Given the description of an element on the screen output the (x, y) to click on. 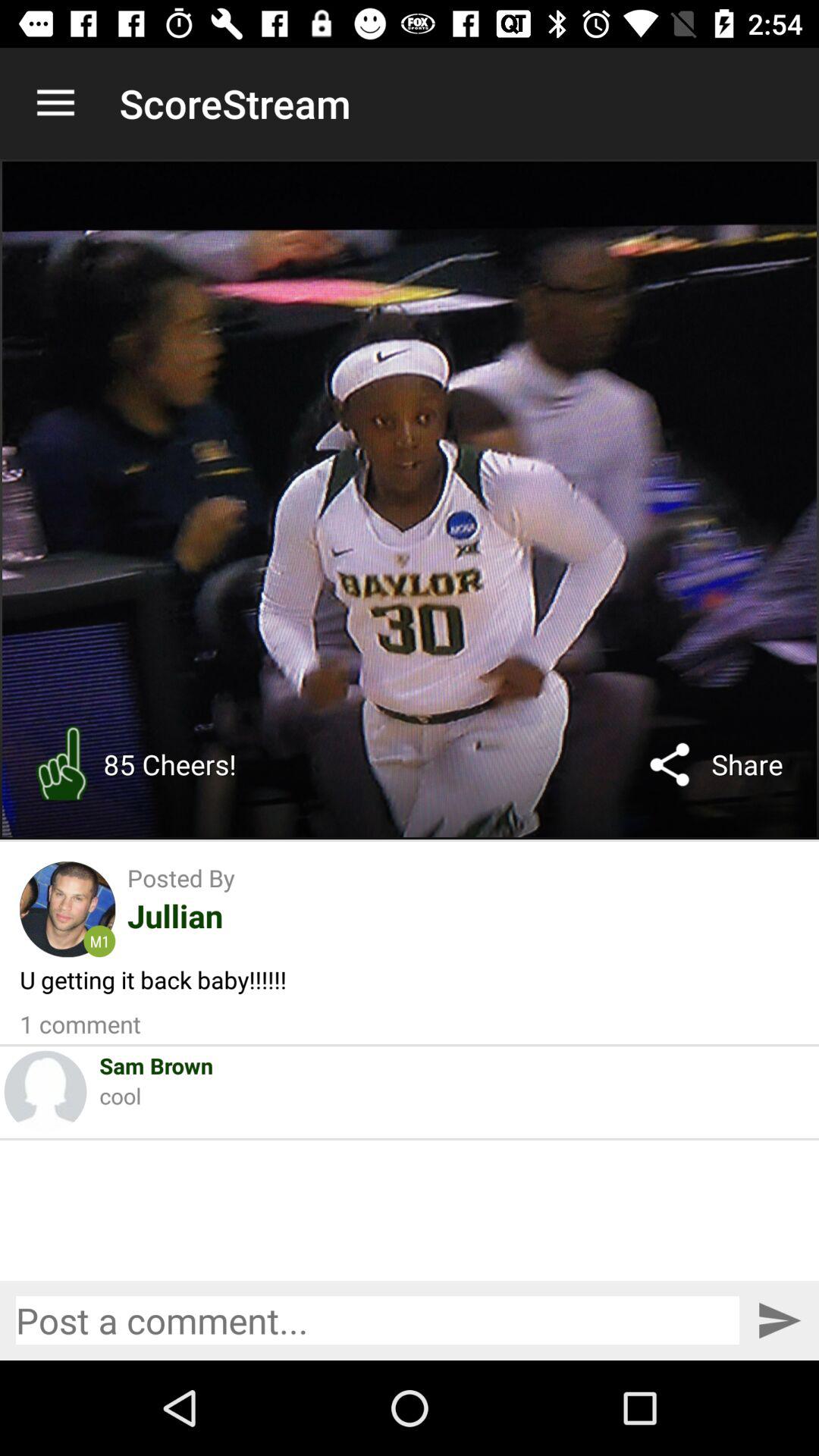
open the icon above jullian (180, 877)
